Given the description of an element on the screen output the (x, y) to click on. 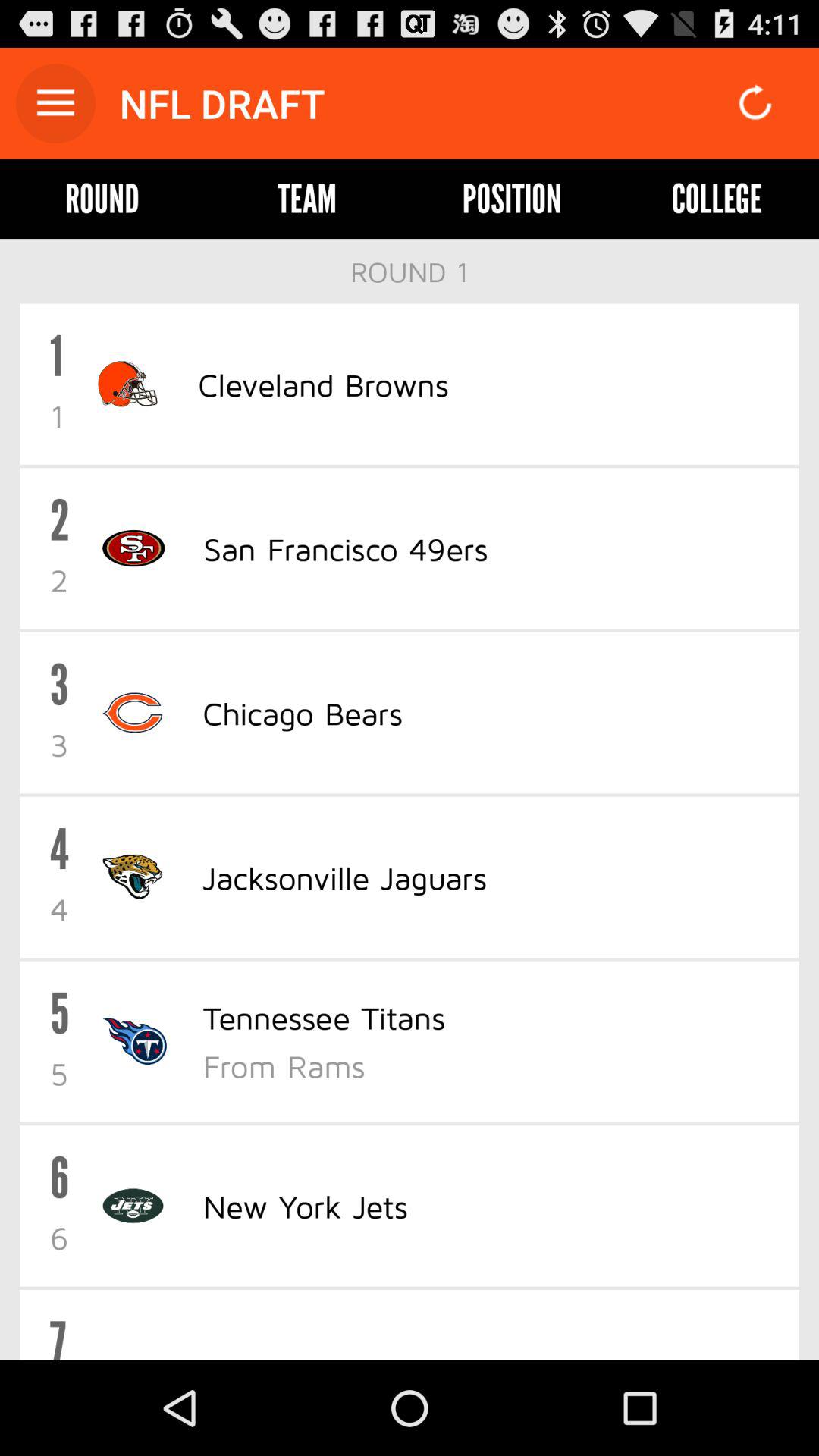
select menu (55, 103)
